Given the description of an element on the screen output the (x, y) to click on. 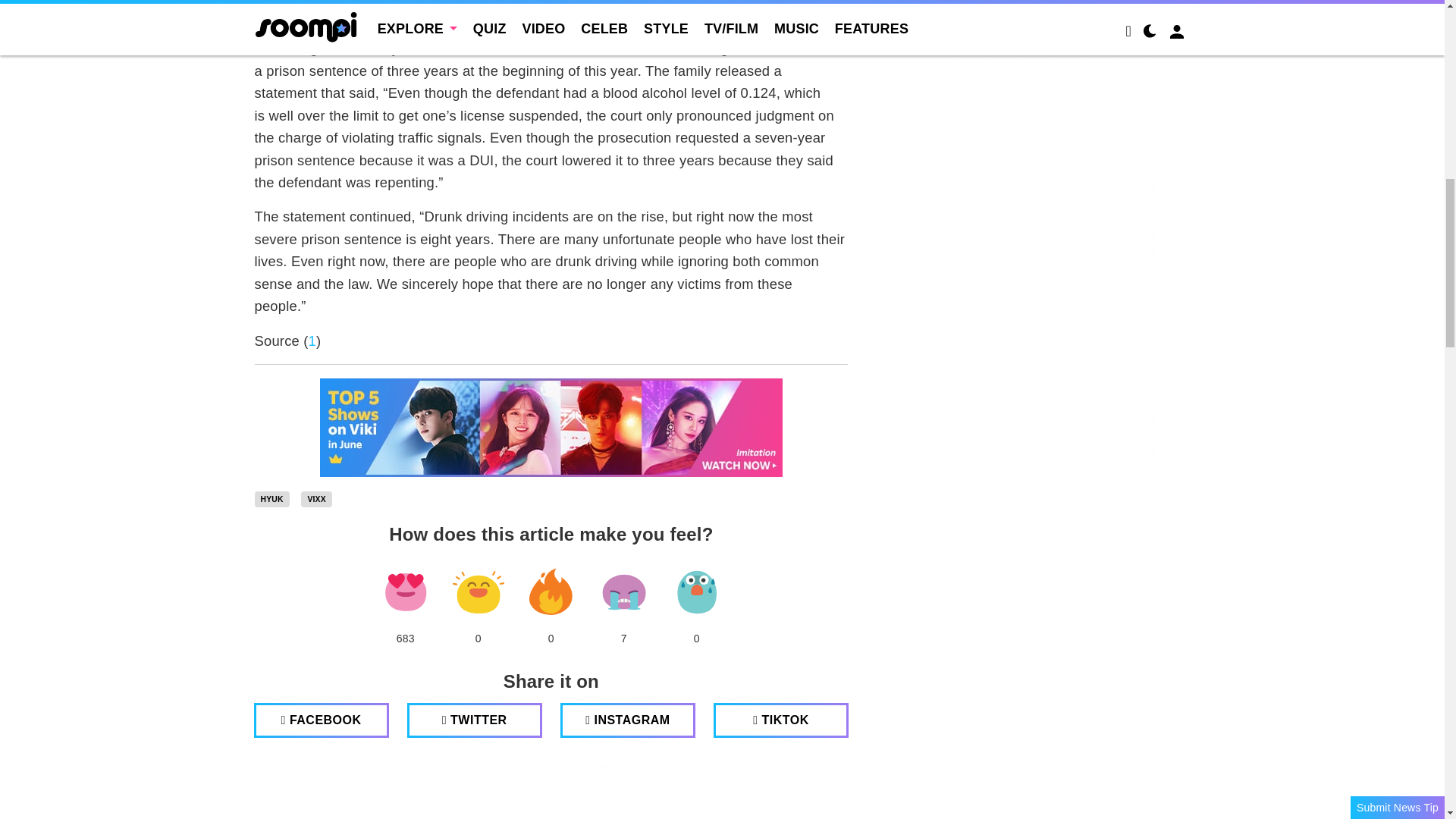
heart (405, 591)
1 (311, 340)
Fire (550, 591)
LOL (478, 591)
cry (623, 591)
Heart (405, 591)
3rd party ad content (551, 790)
VIXX (316, 499)
fire (550, 591)
Hyuk (271, 499)
OMG (696, 591)
lol (478, 591)
omg (696, 591)
HYUK (271, 499)
Crying (623, 591)
